Given the description of an element on the screen output the (x, y) to click on. 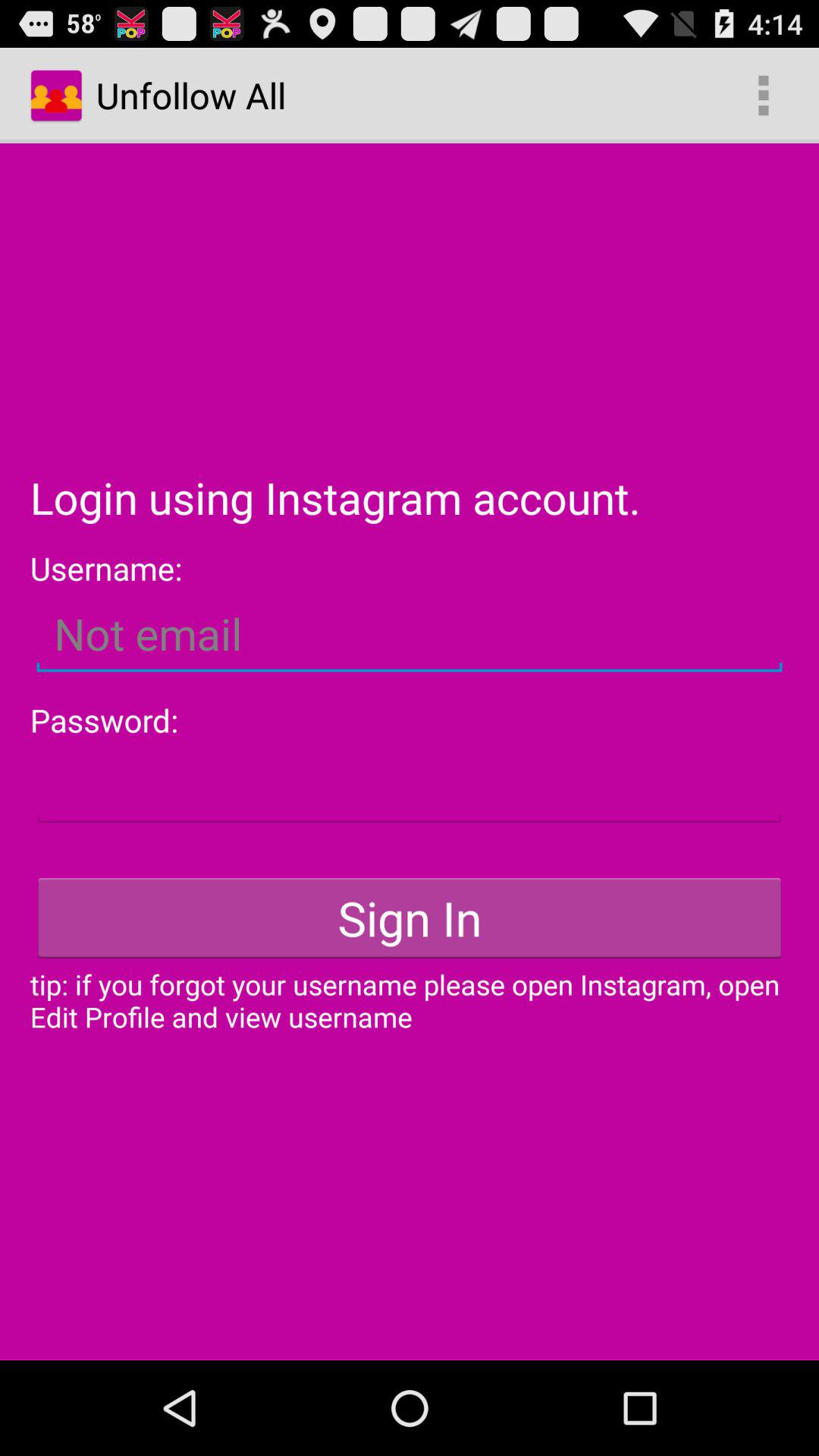
launch app above the tip if you icon (409, 917)
